Given the description of an element on the screen output the (x, y) to click on. 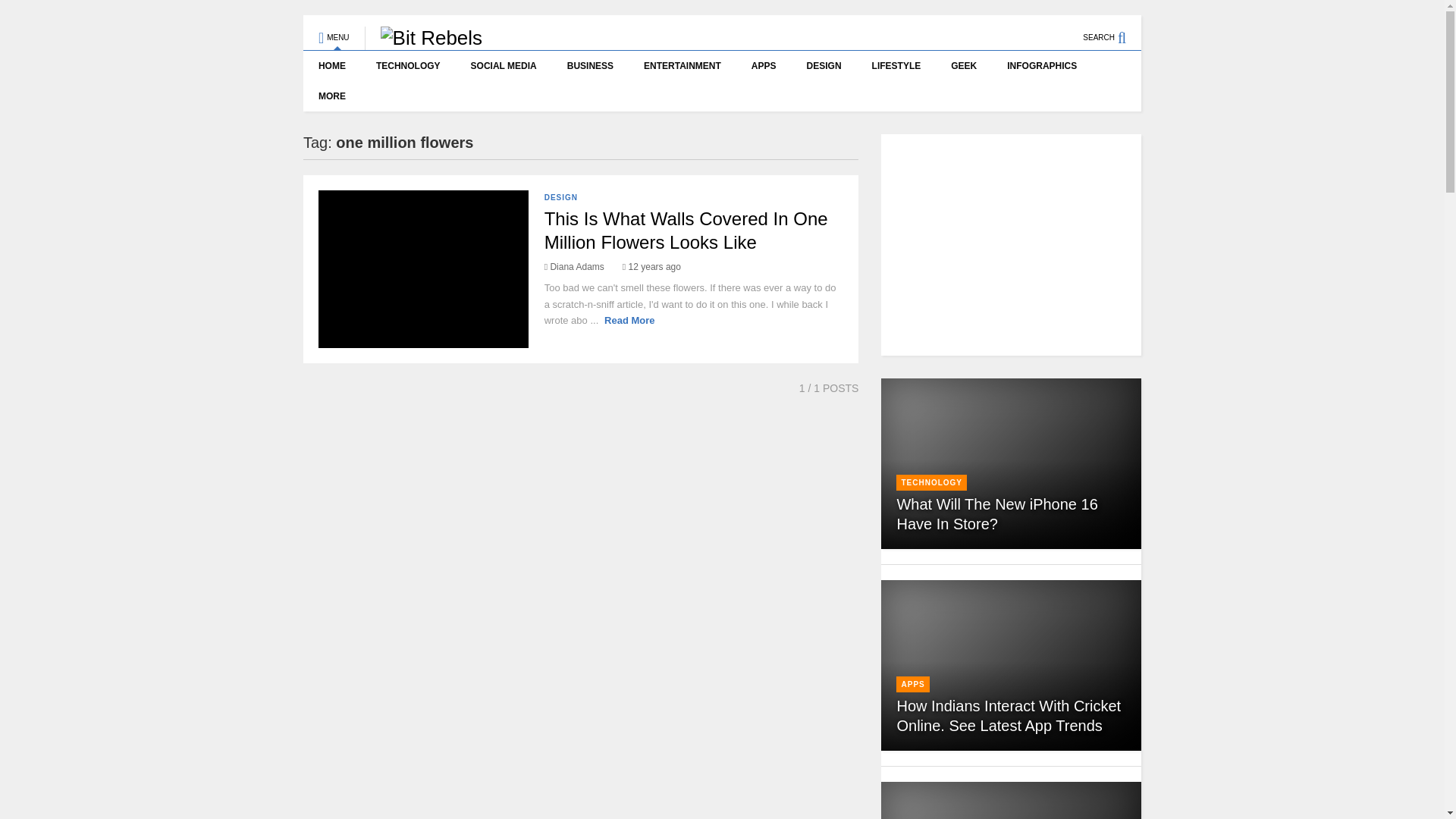
This Is What Walls Covered In One Million Flowers Looks Like (686, 230)
APPS (764, 65)
HOME (331, 65)
INFOGRAPHICS (1041, 65)
Diana Adams (574, 266)
What Will The New iPhone 16 Have In Store? (996, 514)
12 years ago (652, 266)
BUSINESS (589, 65)
SOCIAL MEDIA (503, 65)
TECHNOLOGY (408, 65)
